Given the description of an element on the screen output the (x, y) to click on. 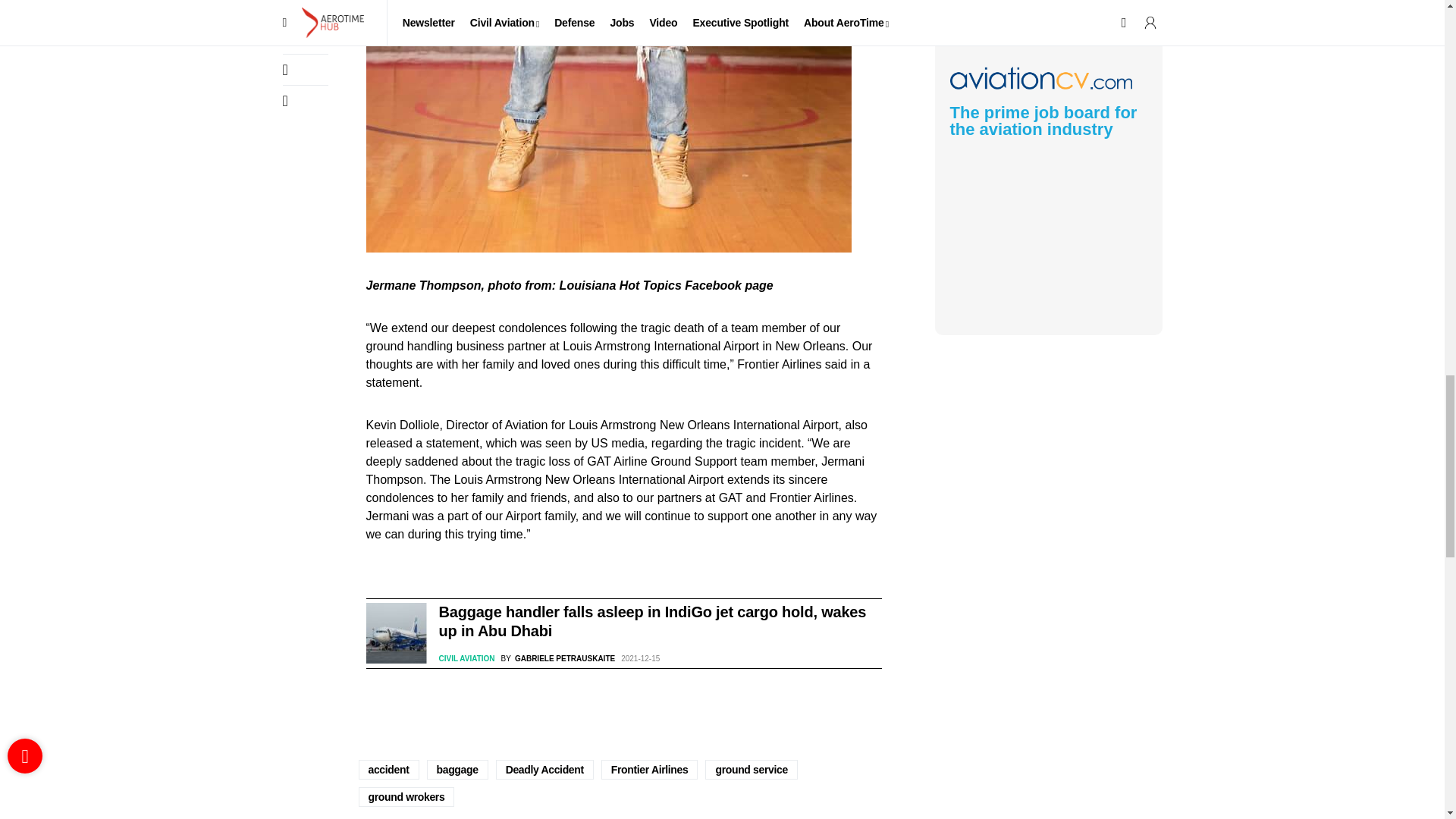
View all posts by Gabriele Petrauskaite (557, 658)
